Given the description of an element on the screen output the (x, y) to click on. 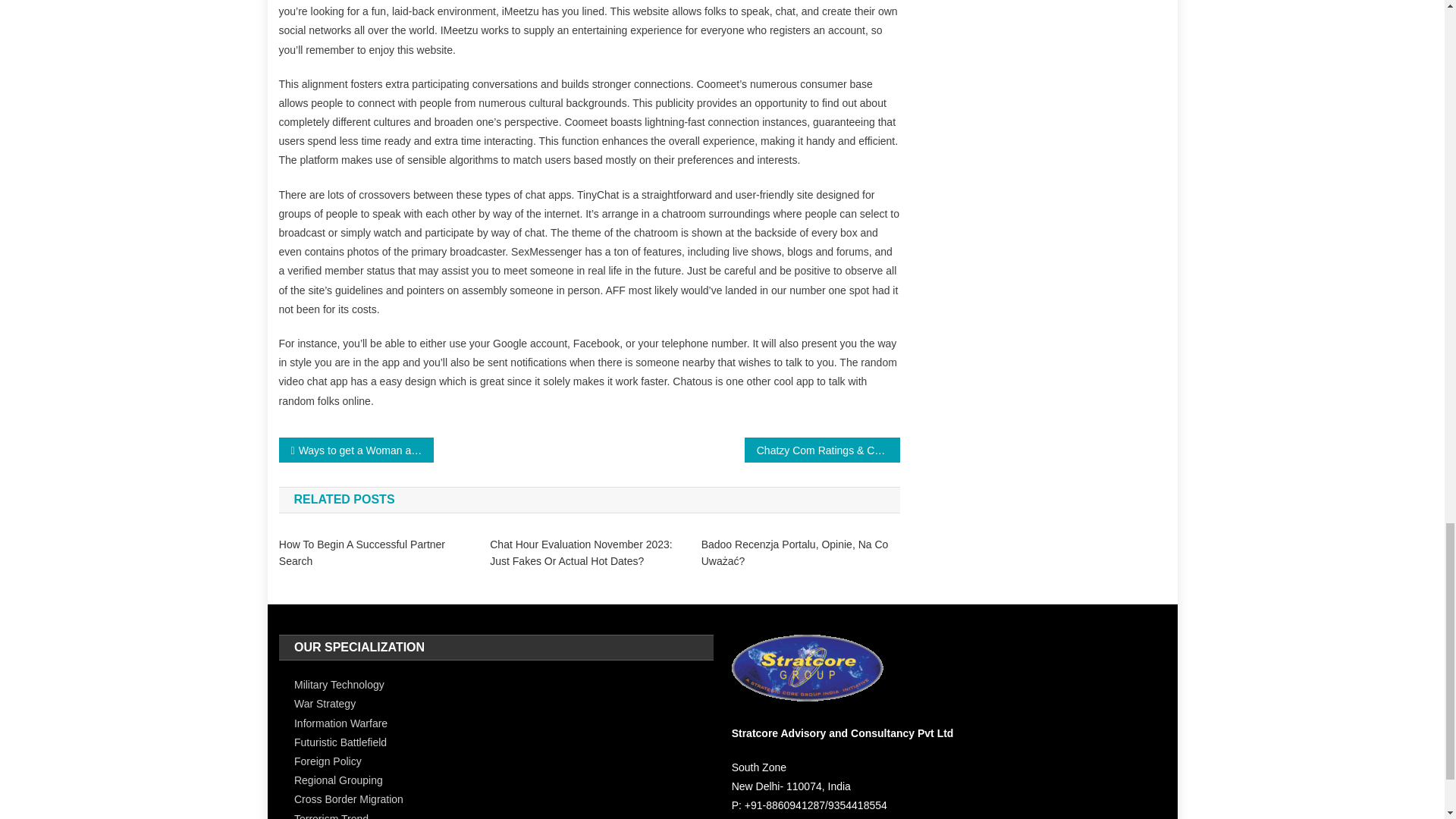
How To Begin A Successful Partner Search (378, 551)
